Given the description of an element on the screen output the (x, y) to click on. 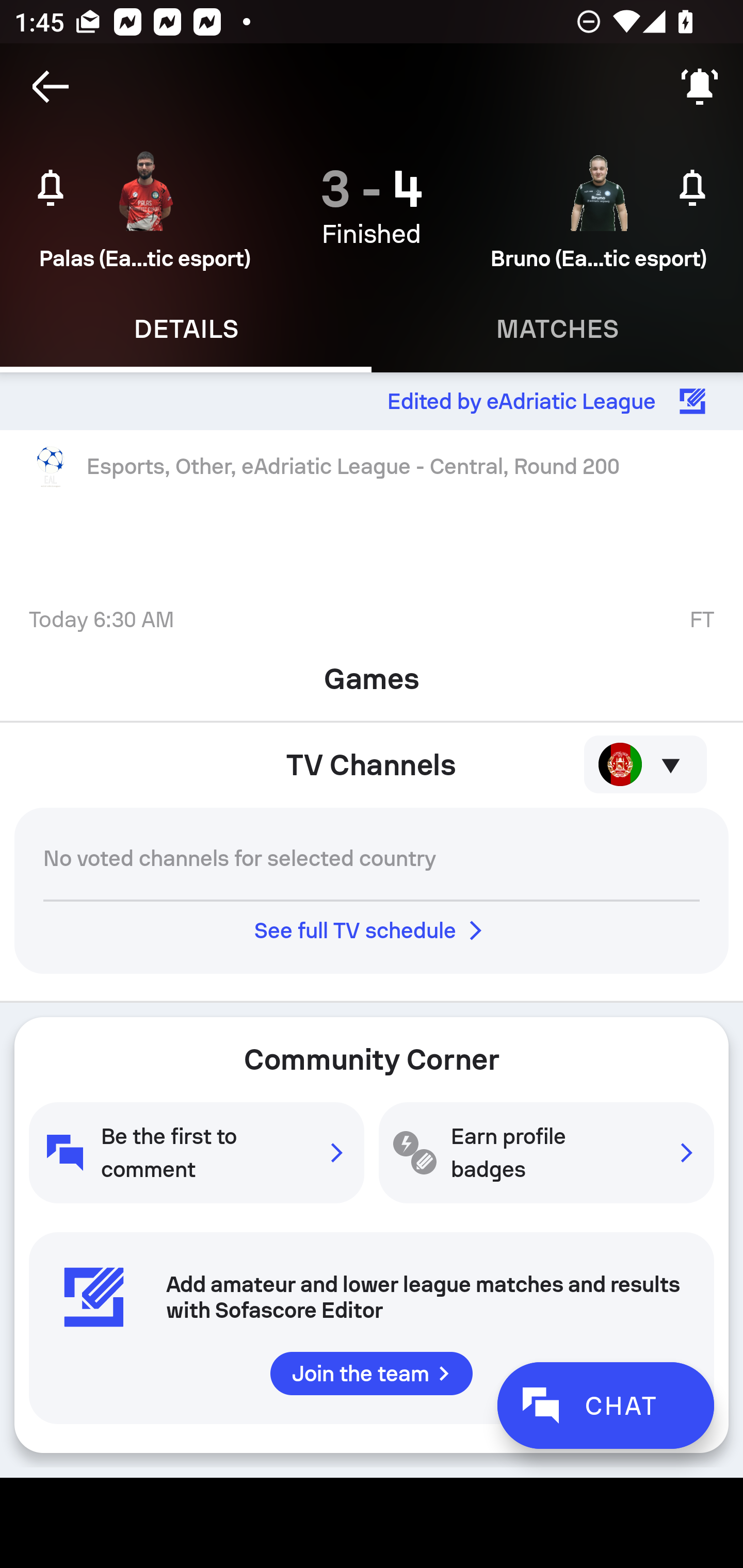
Navigate up (50, 86)
Matches MATCHES (557, 329)
Edited by eAdriatic League (371, 401)
Games (371, 672)
See full TV schedule (371, 930)
Be the first to comment (196, 1152)
Earn profile badges (546, 1152)
Join the team (371, 1373)
CHAT (605, 1405)
